Given the description of an element on the screen output the (x, y) to click on. 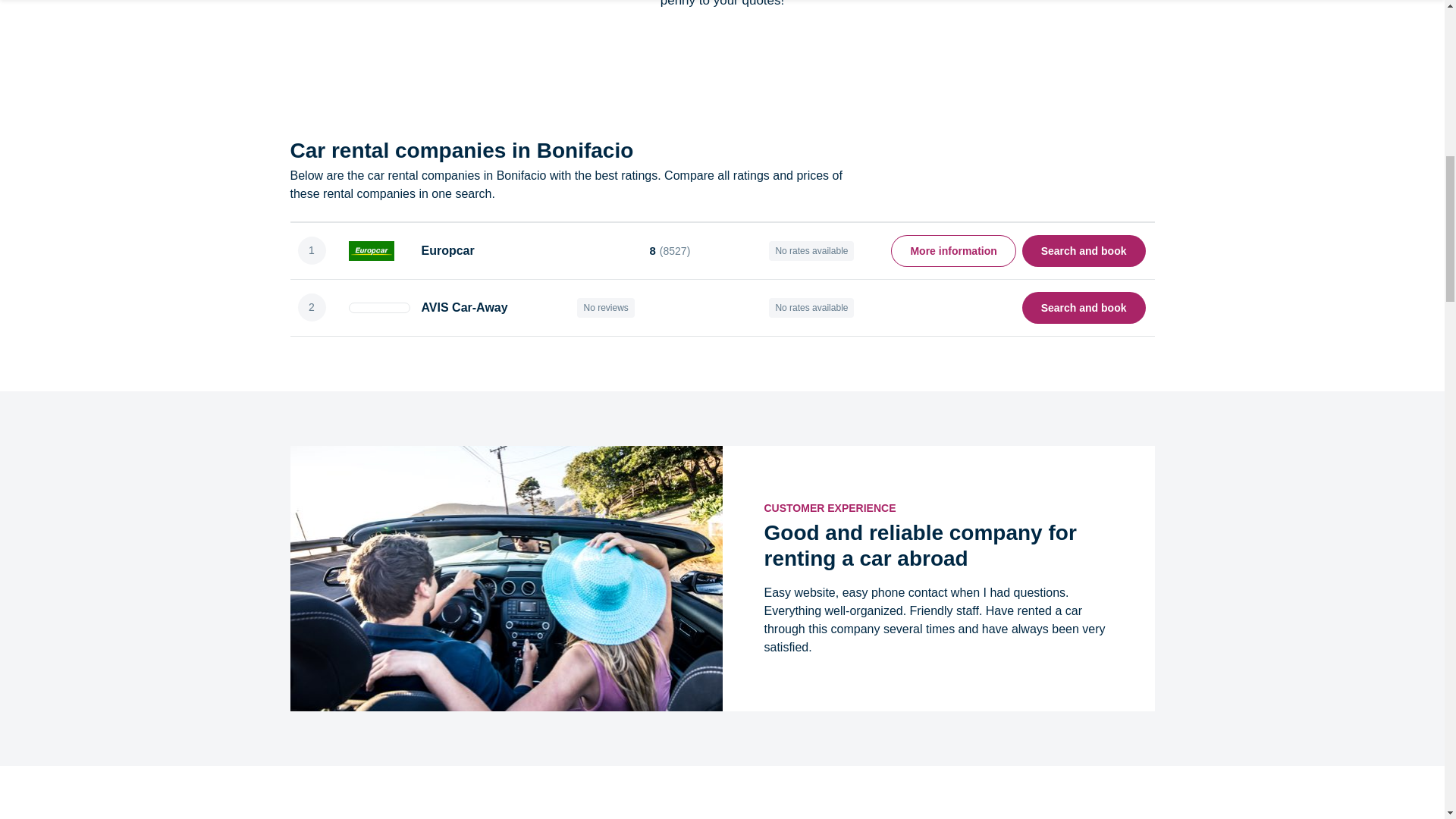
Search and book (1083, 306)
Search and book (1083, 250)
More information (952, 250)
